Given the description of an element on the screen output the (x, y) to click on. 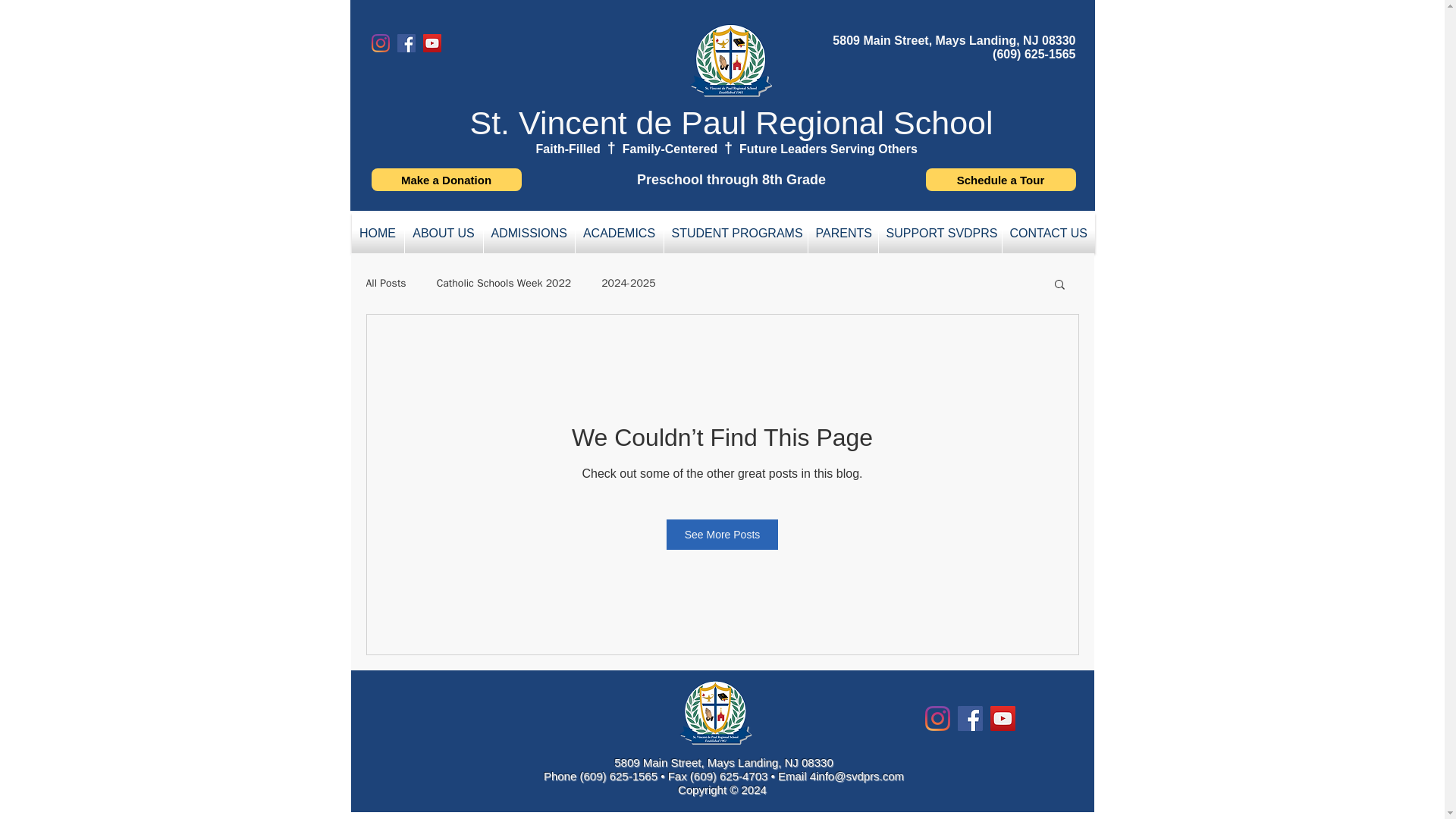
PARENTS (842, 232)
Make a Donation (446, 179)
ACADEMICS (618, 232)
STUDENT PROGRAMS (735, 232)
HOME (378, 232)
ABOUT US (443, 232)
Schedule a Tour (999, 179)
ADMISSIONS (529, 232)
